Given the description of an element on the screen output the (x, y) to click on. 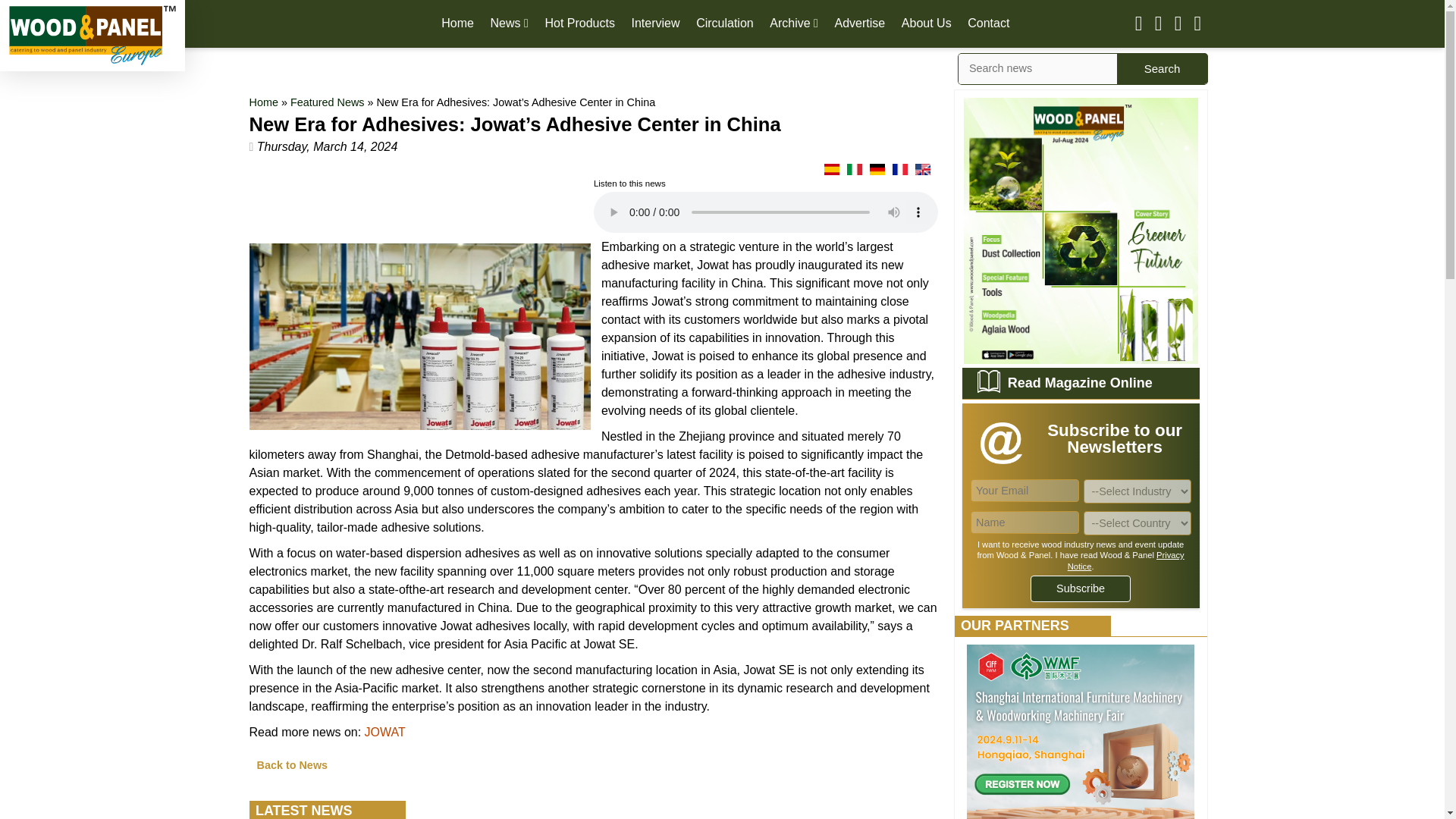
Advertise (859, 22)
News (509, 22)
Home (457, 22)
Circulation (724, 22)
Search (1161, 68)
Subscribe (1080, 588)
Featured News (327, 102)
Home (263, 102)
Hot Products (579, 22)
Archive (794, 22)
Interview (654, 22)
JOWAT  (385, 731)
About Us (926, 22)
Contact (988, 22)
